Given the description of an element on the screen output the (x, y) to click on. 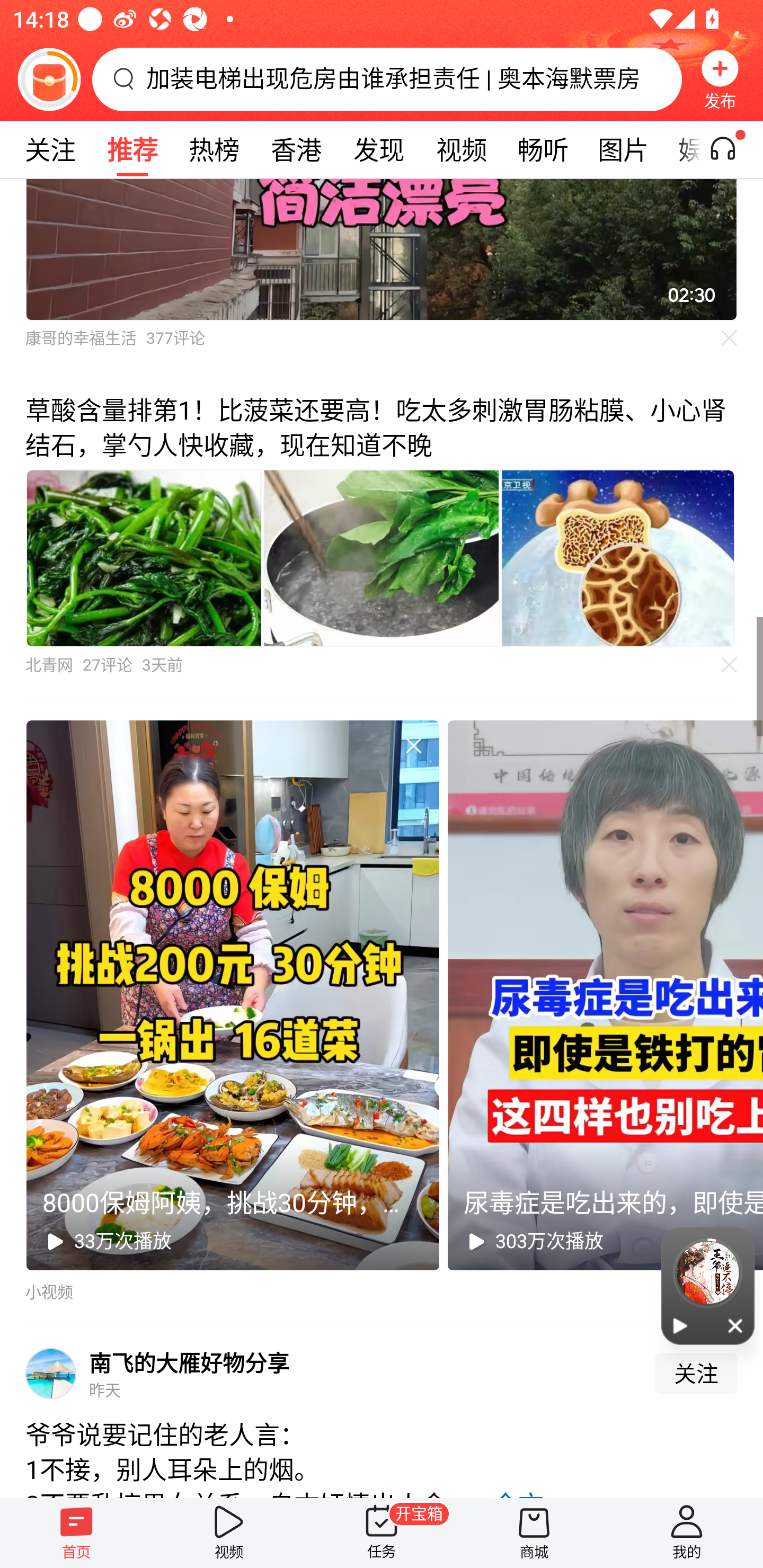
阅读赚金币 (48, 79)
发布 发布，按钮 (720, 78)
关注 (50, 149)
推荐 (132, 149)
热榜 (213, 149)
香港 (295, 149)
发现 (378, 149)
视频 (461, 149)
畅听 (542, 149)
图片 (623, 149)
听一听开关 (732, 149)
视频播放器，双击屏幕打开播放控制 (381, 249)
不感兴趣 (729, 337)
内容图片 (143, 557)
内容图片 (381, 557)
内容图片 (617, 557)
不感兴趣 (729, 664)
不感兴趣 (413, 745)
播放 关闭 (708, 1286)
播放 (680, 1325)
关闭 (736, 1325)
南飞的大雁好物分享 (189, 1362)
南飞的大雁好物分享头像 (50, 1373)
关注 (695, 1373)
首页 (76, 1532)
视频 (228, 1532)
任务 开宝箱 (381, 1532)
商城 (533, 1532)
我的 (686, 1532)
